Given the description of an element on the screen output the (x, y) to click on. 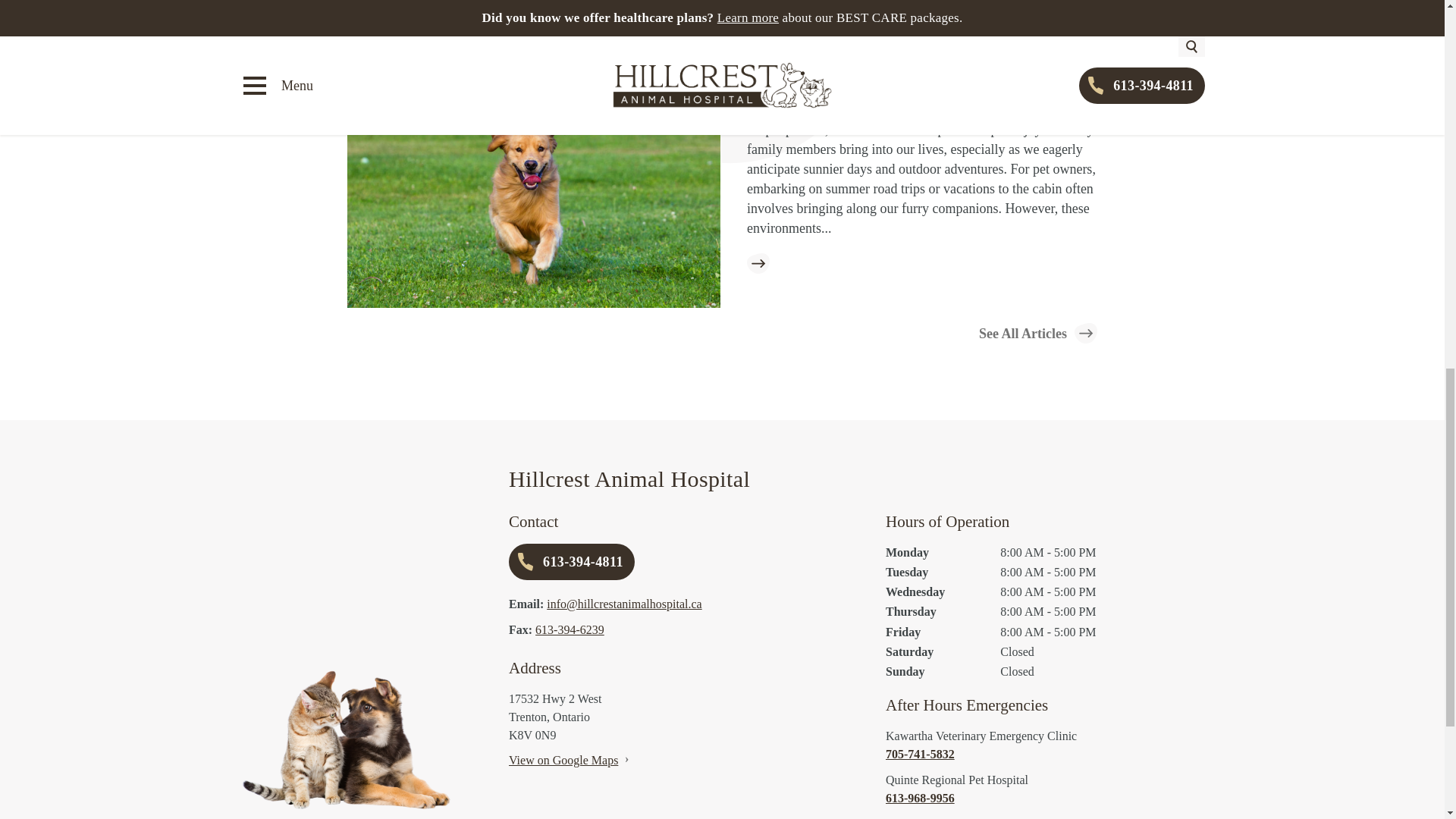
View on Google Maps (562, 759)
705-741-5832 (1045, 754)
See All Articles (1037, 332)
613-394-4811 (571, 561)
613-394-6239 (569, 629)
